Given the description of an element on the screen output the (x, y) to click on. 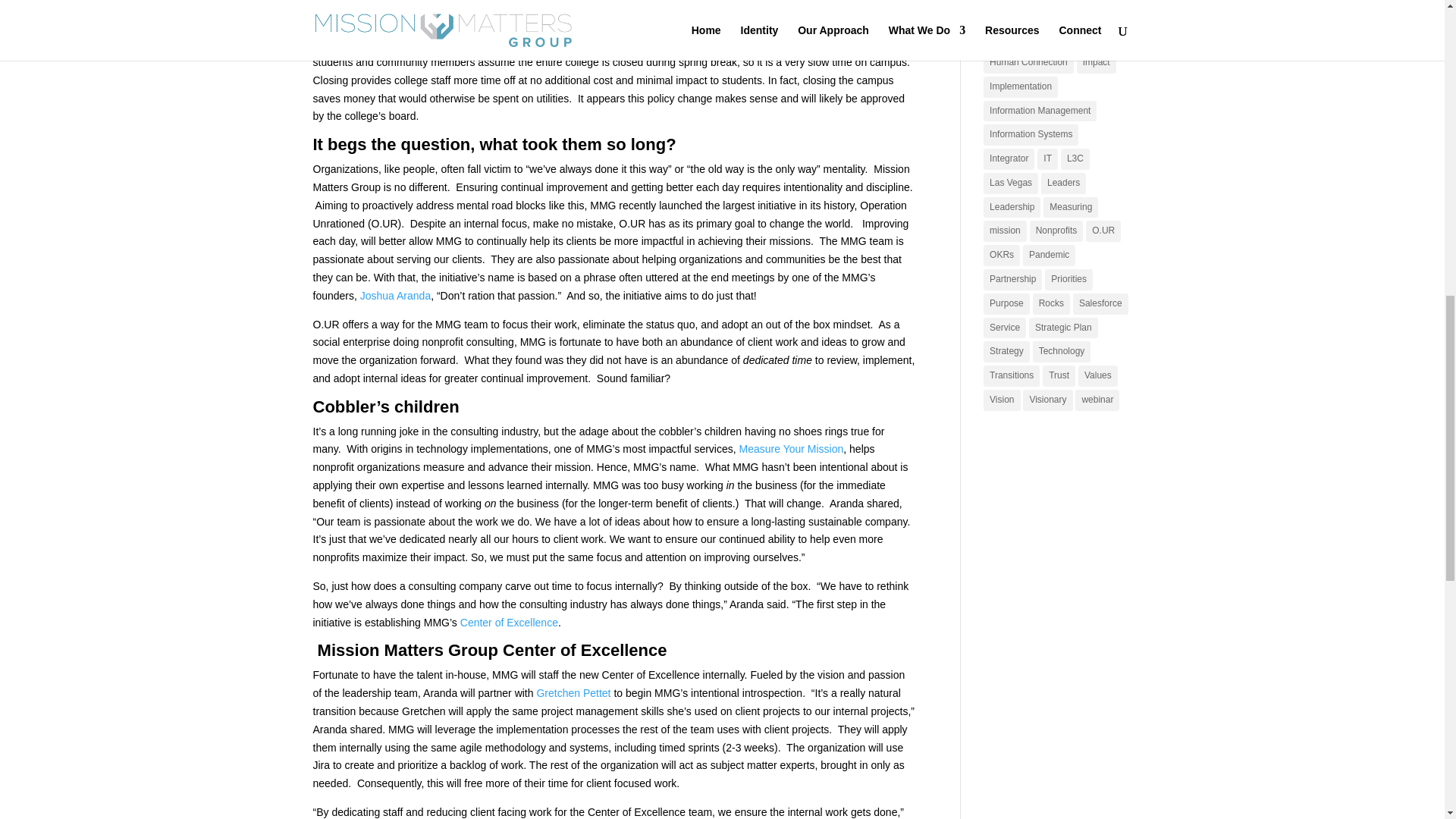
Center of Excellence (508, 622)
Measure Your Mission (791, 449)
Gretchen Pettet (572, 693)
Joshua Aranda (394, 295)
